Given the description of an element on the screen output the (x, y) to click on. 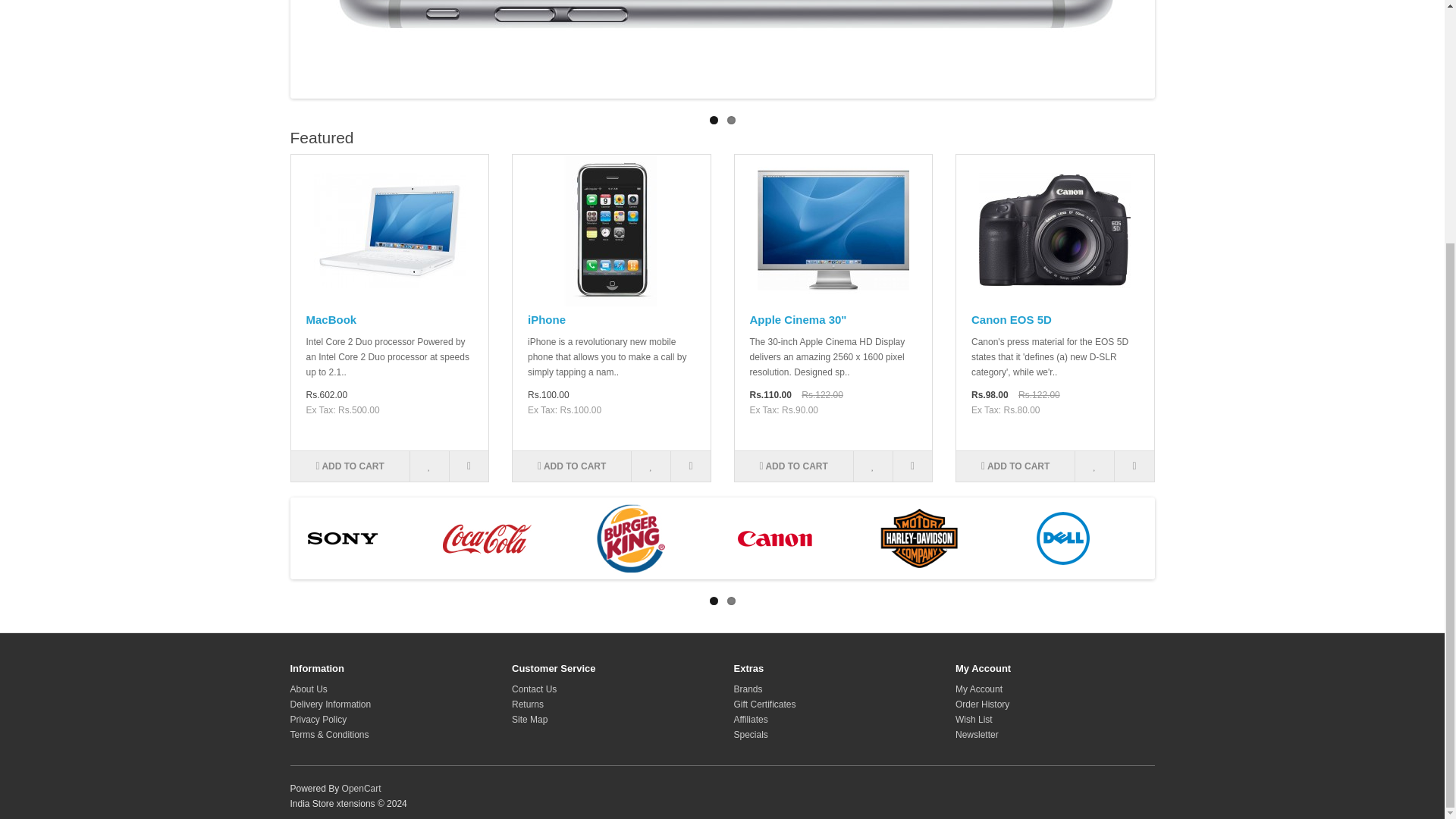
MacBook (389, 230)
Canon EOS 5D (1054, 230)
Apple Cinema 30" (832, 230)
iPhone (611, 230)
